Given the description of an element on the screen output the (x, y) to click on. 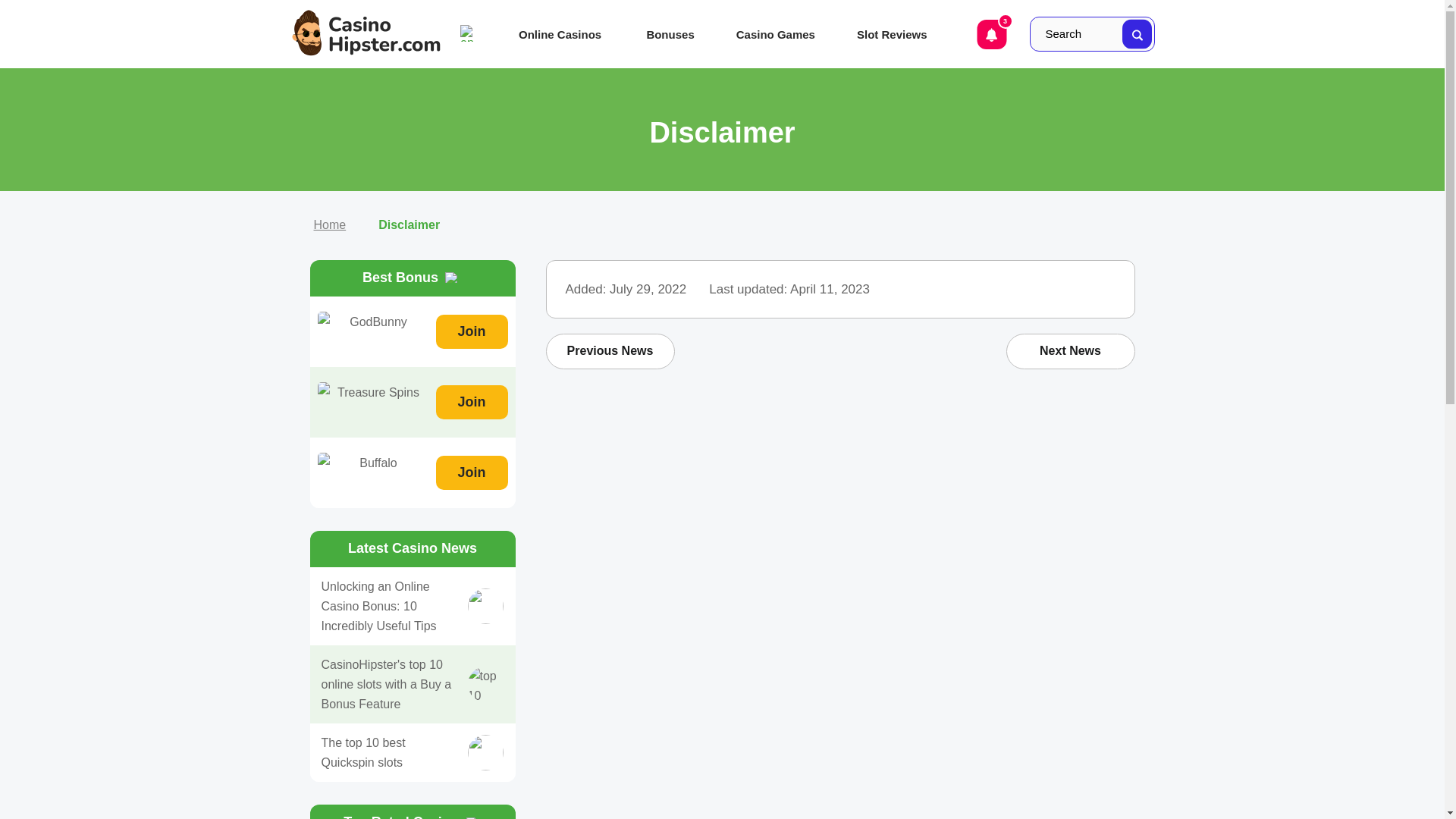
GodBunny (371, 328)
Casino Games (780, 34)
Bonuses (675, 34)
Slot Reviews (897, 34)
Buffalo (371, 469)
Treasure Spins (371, 399)
Online Casinos  (566, 34)
